Given the description of an element on the screen output the (x, y) to click on. 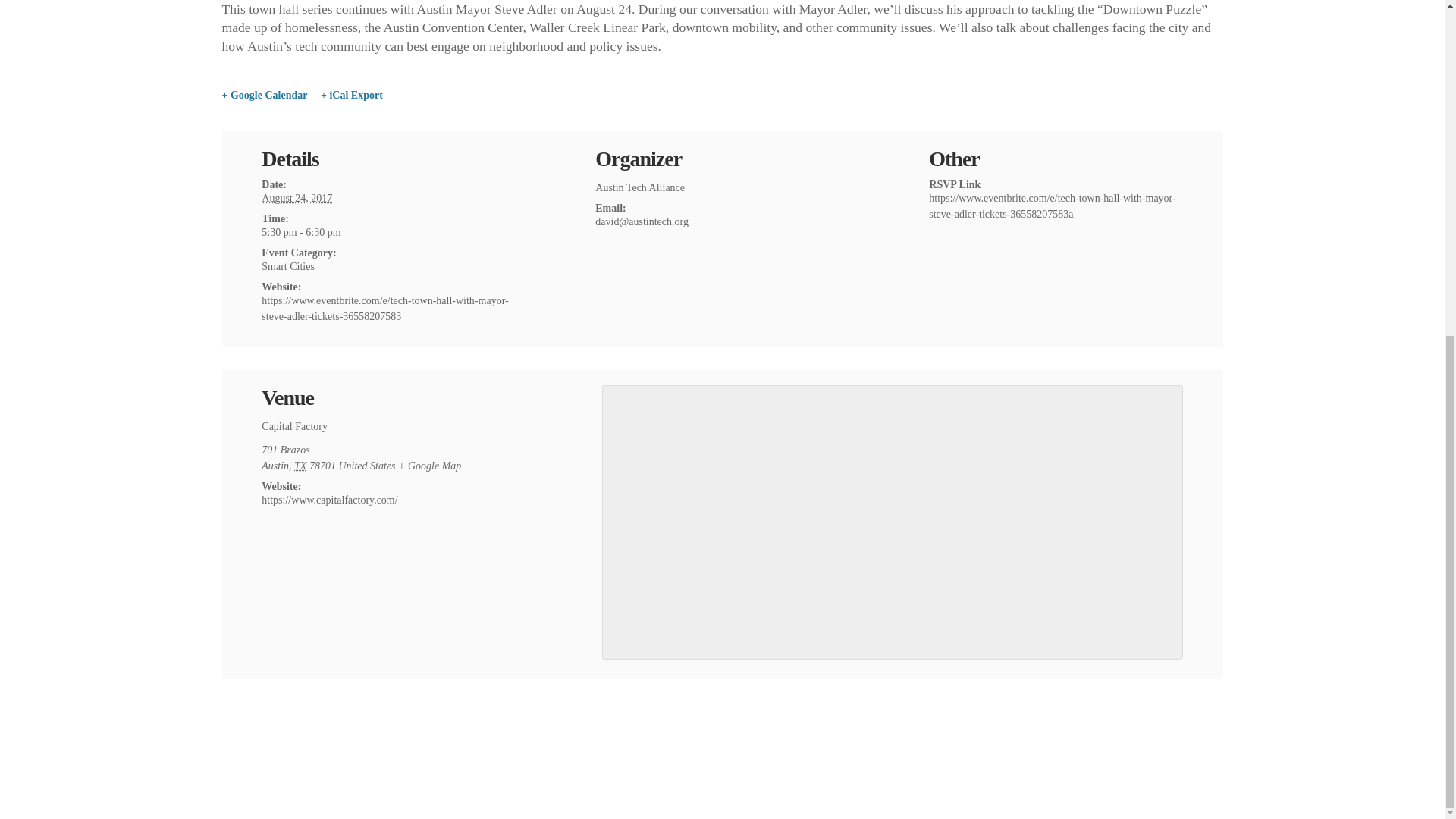
2017-08-24 (388, 232)
Download .ics file (351, 95)
Smart Cities (288, 266)
2017-08-24 (296, 197)
Austin Tech Alliance (639, 187)
Capital Factory (294, 426)
Add to Google Calendar (264, 95)
Texas (299, 465)
Click to view a Google Map (429, 465)
Austin Tech Alliance (639, 187)
